Given the description of an element on the screen output the (x, y) to click on. 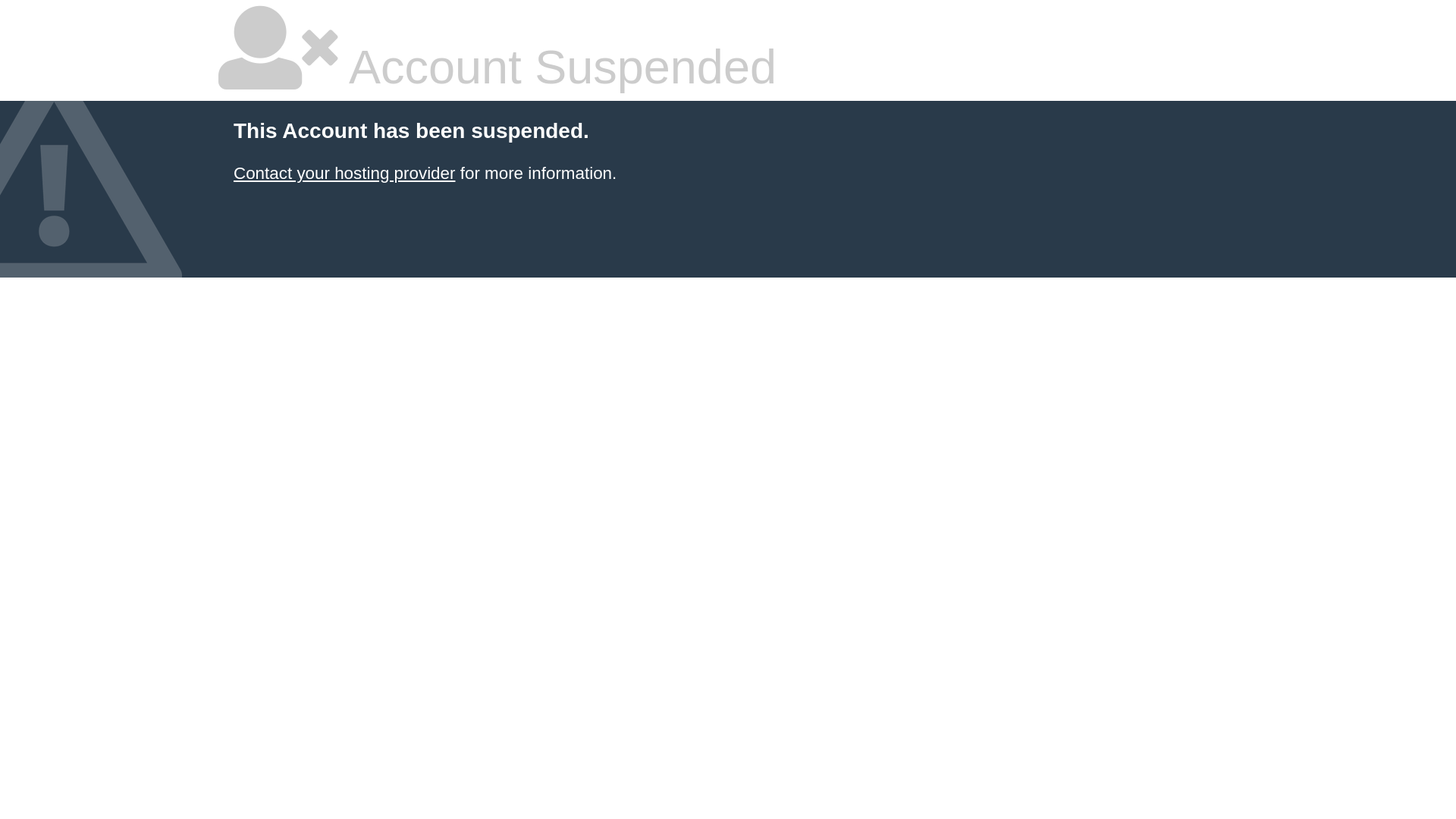
Contact your hosting provider Element type: text (344, 172)
